Given the description of an element on the screen output the (x, y) to click on. 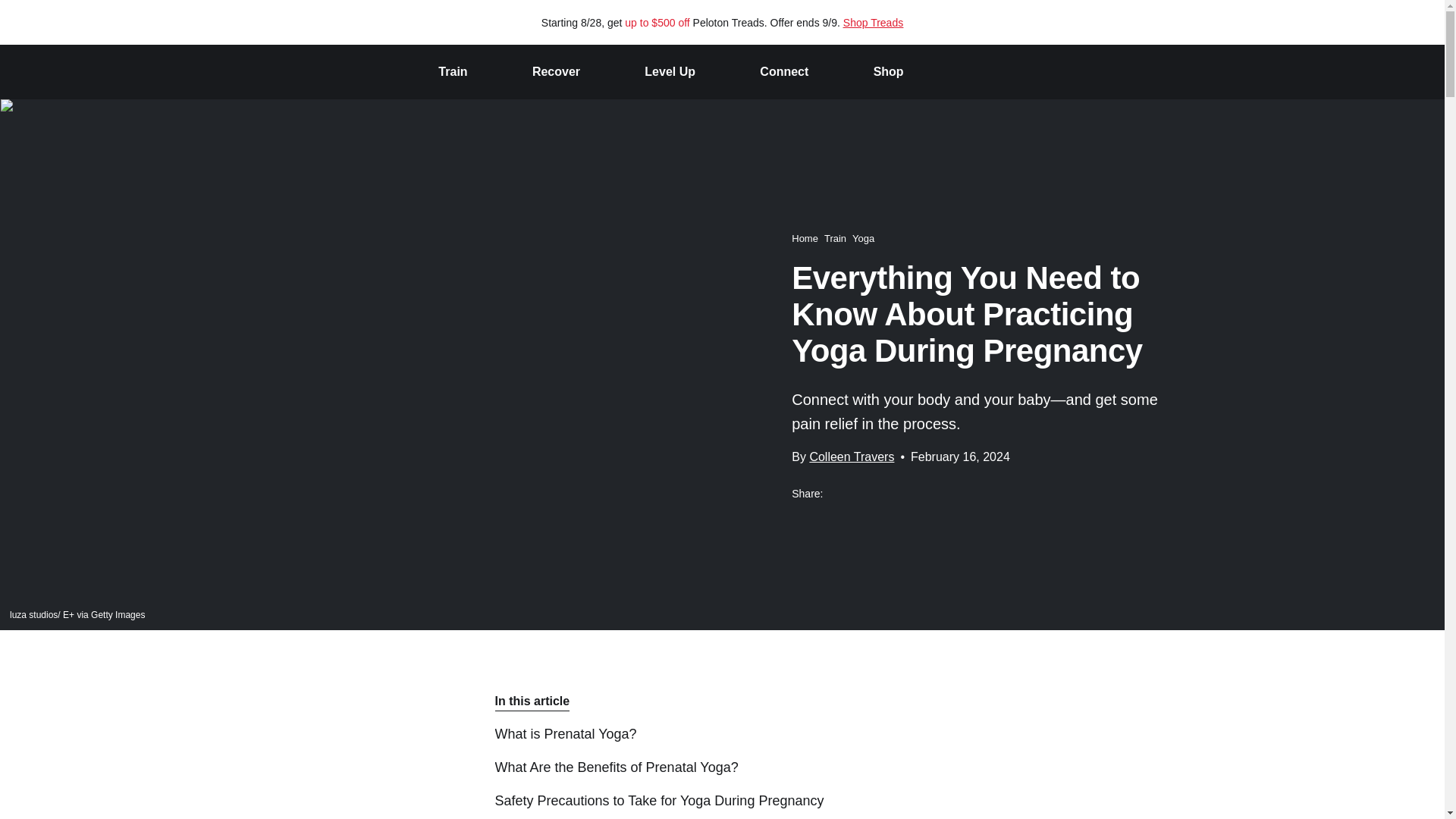
Home (805, 236)
Train (452, 72)
Recover (555, 72)
Level Up (670, 72)
Train (834, 236)
Yoga (863, 236)
Shop (888, 72)
Connect (784, 72)
Shop Treads (872, 22)
